Given the description of an element on the screen output the (x, y) to click on. 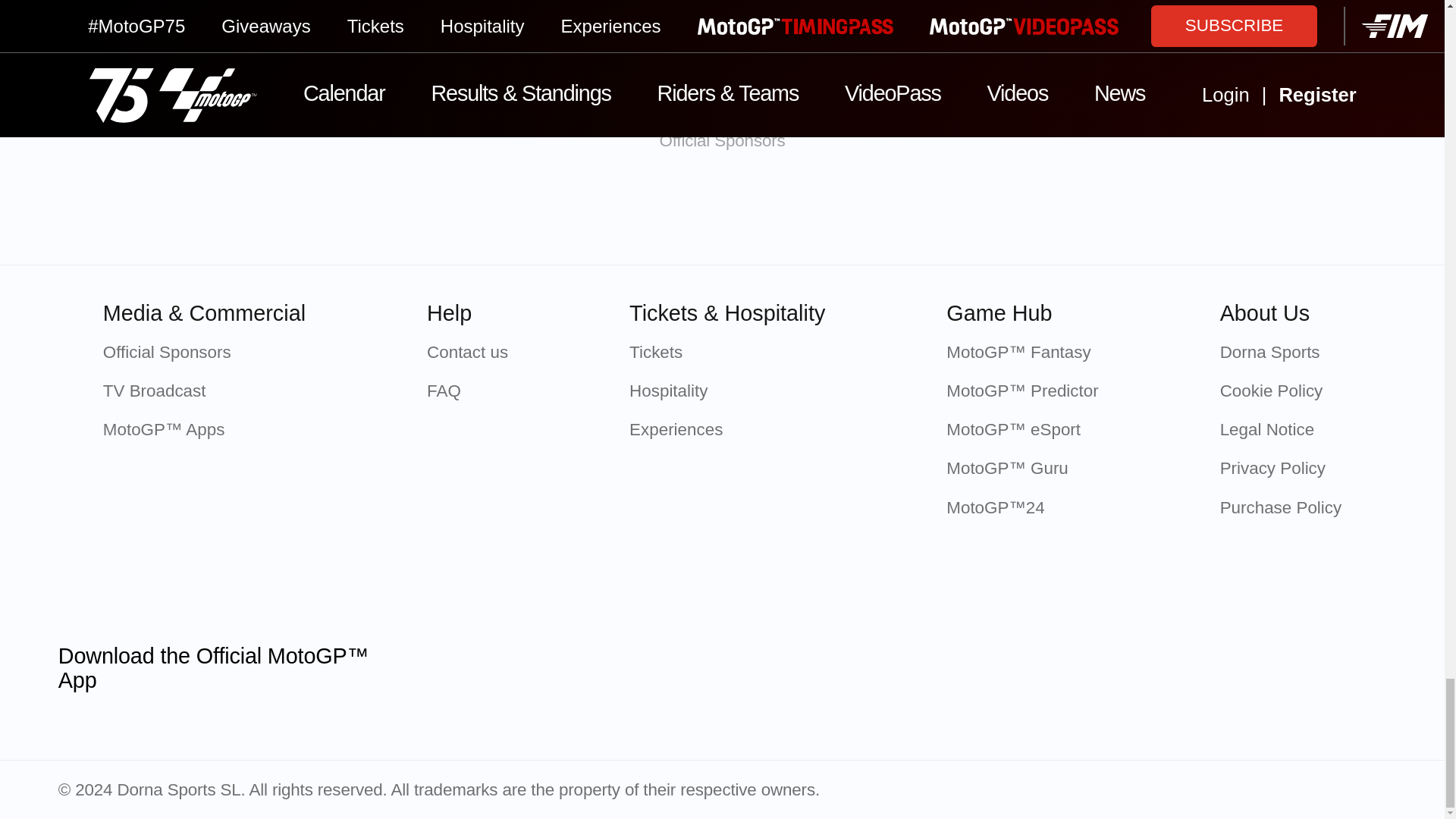
ESTRELLA GALICIA (962, 211)
QATAR (321, 211)
BMW M (802, 211)
DHL (1122, 211)
MICHELIN (642, 211)
TISSOT (481, 211)
